Given the description of an element on the screen output the (x, y) to click on. 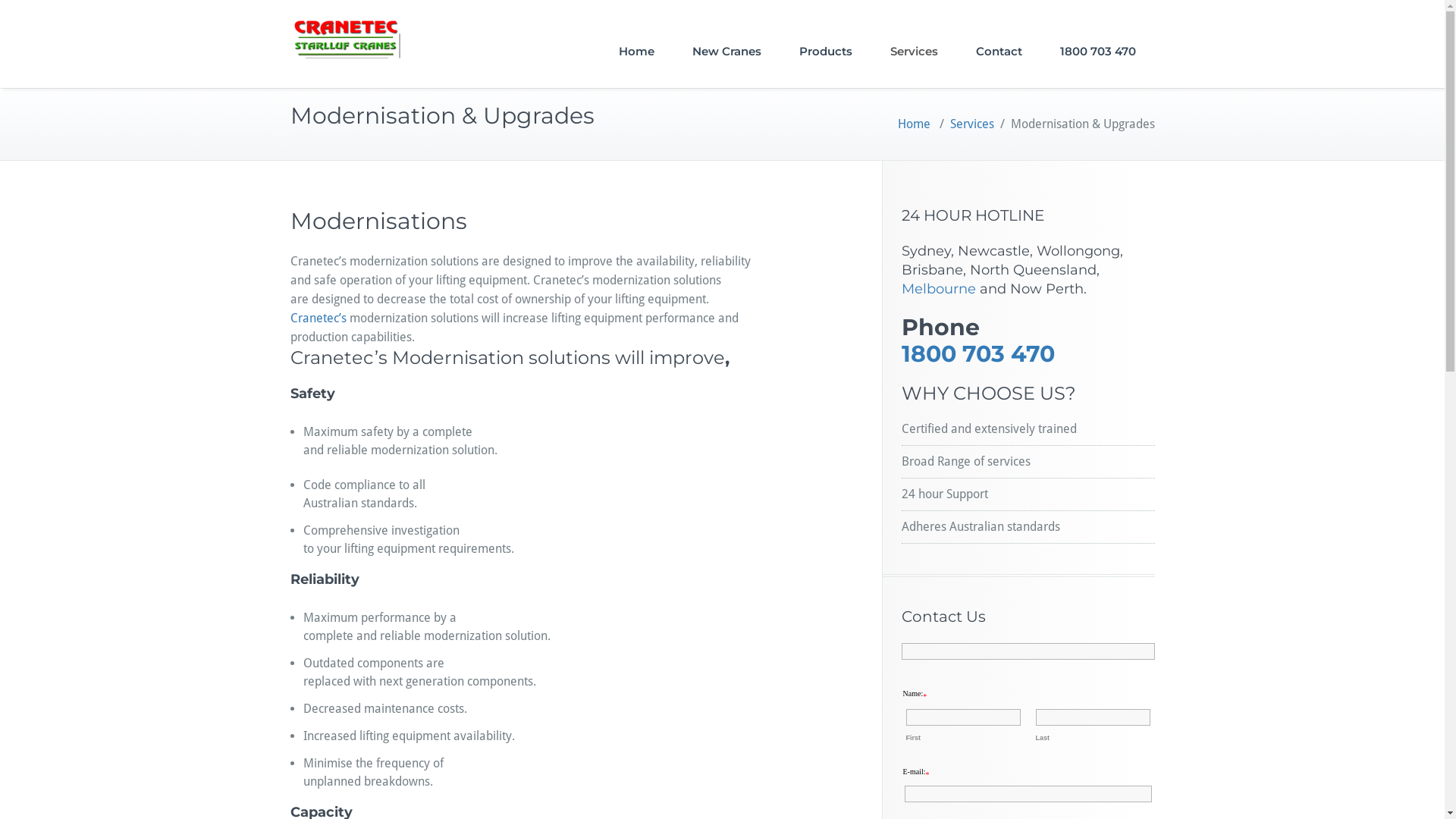
Contact Element type: text (999, 51)
Home Element type: text (913, 123)
1800 703 470 Element type: text (977, 353)
Services Element type: text (971, 123)
1800 703 470 Element type: text (1097, 51)
Home Element type: text (635, 51)
Services Element type: text (913, 51)
Products Element type: text (824, 51)
Melbourne Element type: text (937, 288)
New Cranes Element type: text (726, 51)
